Given the description of an element on the screen output the (x, y) to click on. 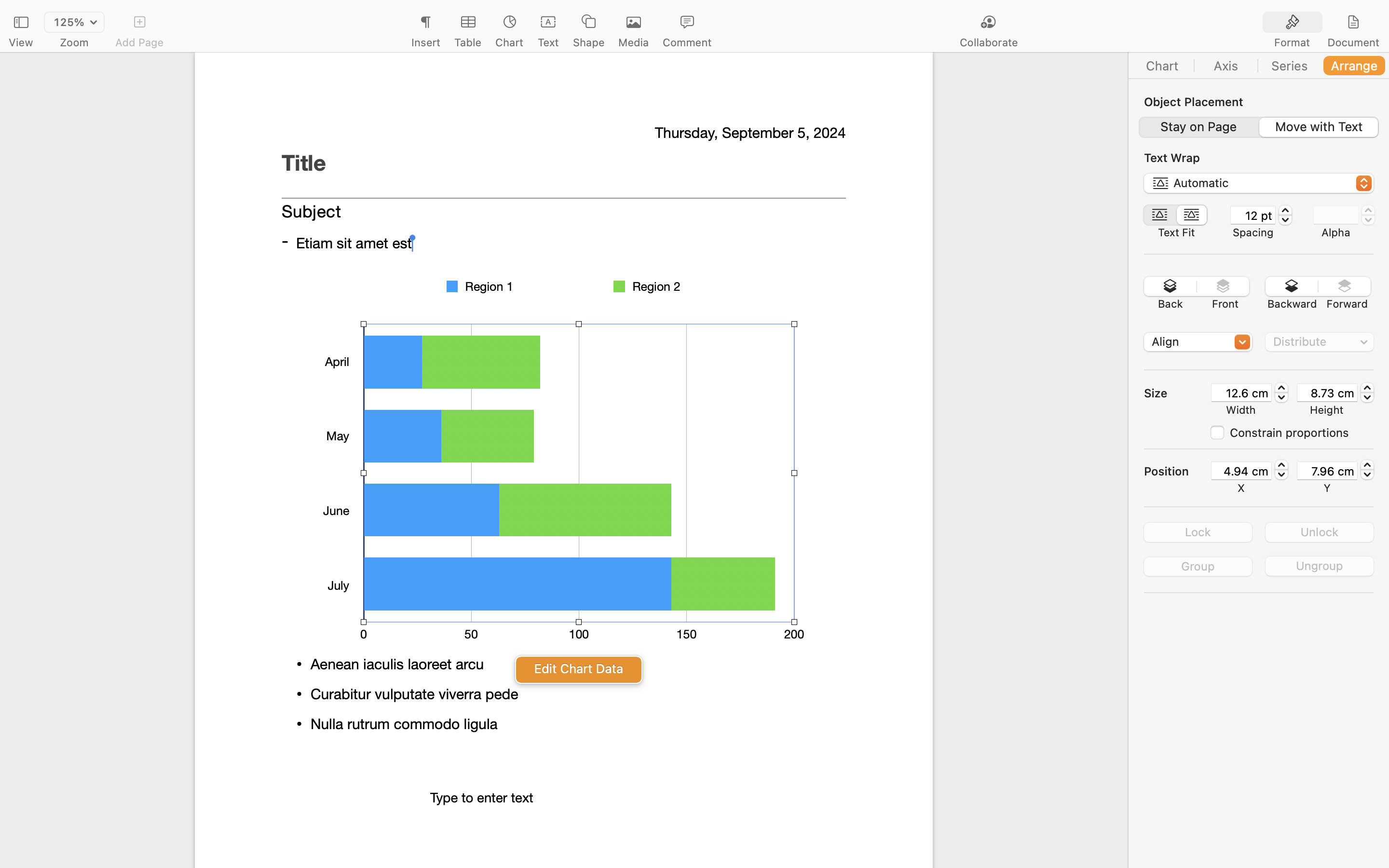
Format Element type: AXStaticText (1291, 42)
Media Element type: AXStaticText (633, 42)
Untitled Element type: AXStaticText (667, 12)
Learn More Element type: AXStaticText (562, 309)
